Given the description of an element on the screen output the (x, y) to click on. 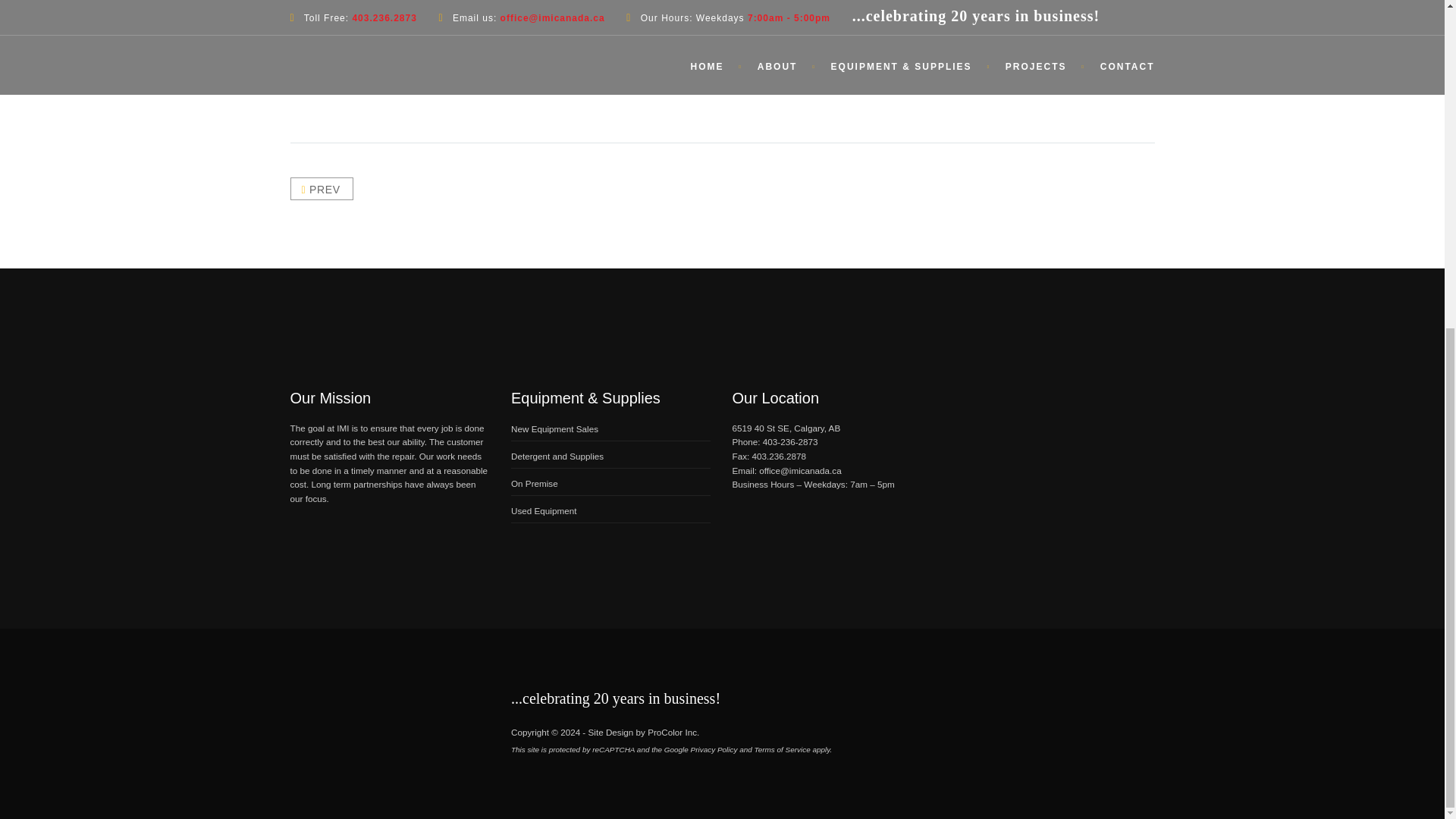
ProColor Inc. (672, 732)
PREV (320, 188)
On Premise (534, 483)
Used Equipment (543, 510)
Privacy Policy (714, 749)
Detergent and Supplies (557, 456)
403-236-2873 (790, 441)
New Equipment Sales (554, 429)
Stack,Of,Fresh,White,Bath,Towels,On,Bed,Sheet,In (903, 42)
Terms of Service (782, 749)
